Given the description of an element on the screen output the (x, y) to click on. 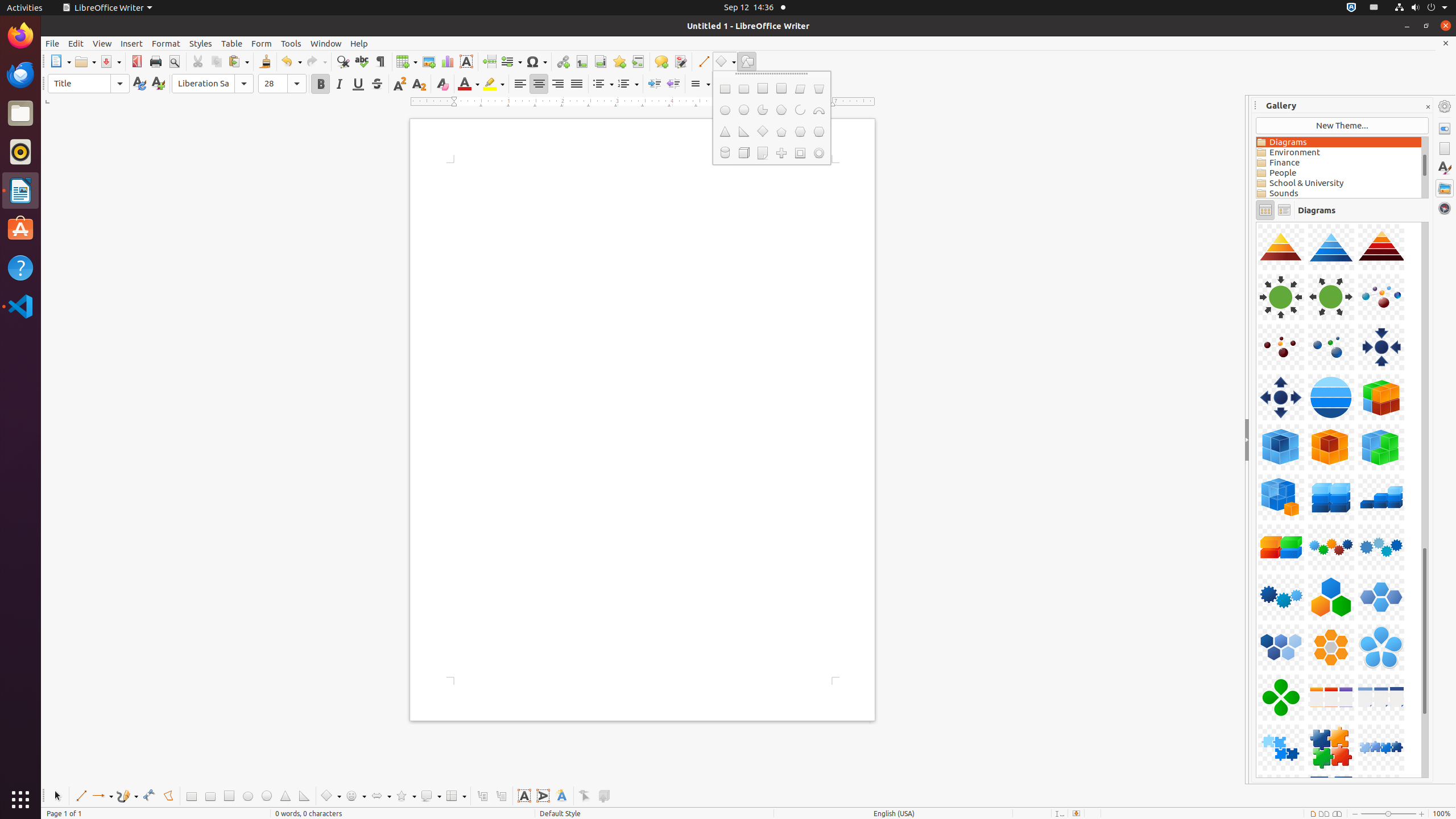
Font Name Element type: combo-box (212, 83)
Basic Shapes Element type: push-button (329, 795)
Insert Element type: menu (131, 43)
Ellipse Element type: push-button (247, 795)
Octagon Element type: toggle-button (818, 131)
